Given the description of an element on the screen output the (x, y) to click on. 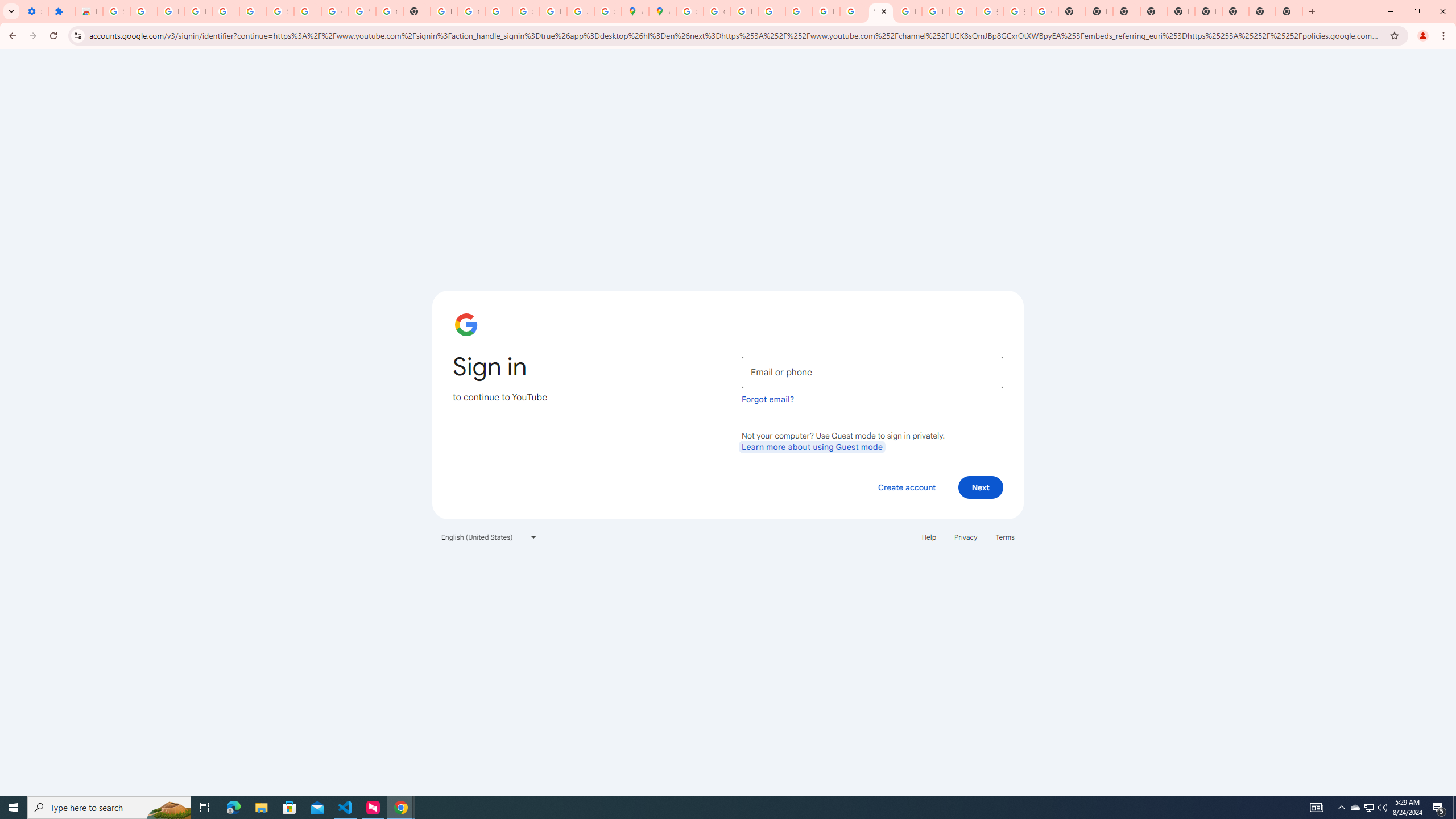
New Tab (1289, 11)
Privacy Help Center - Policies Help (743, 11)
Create account (905, 486)
Google Images (1044, 11)
Learn how to find your photos - Google Photos Help (225, 11)
